Given the description of an element on the screen output the (x, y) to click on. 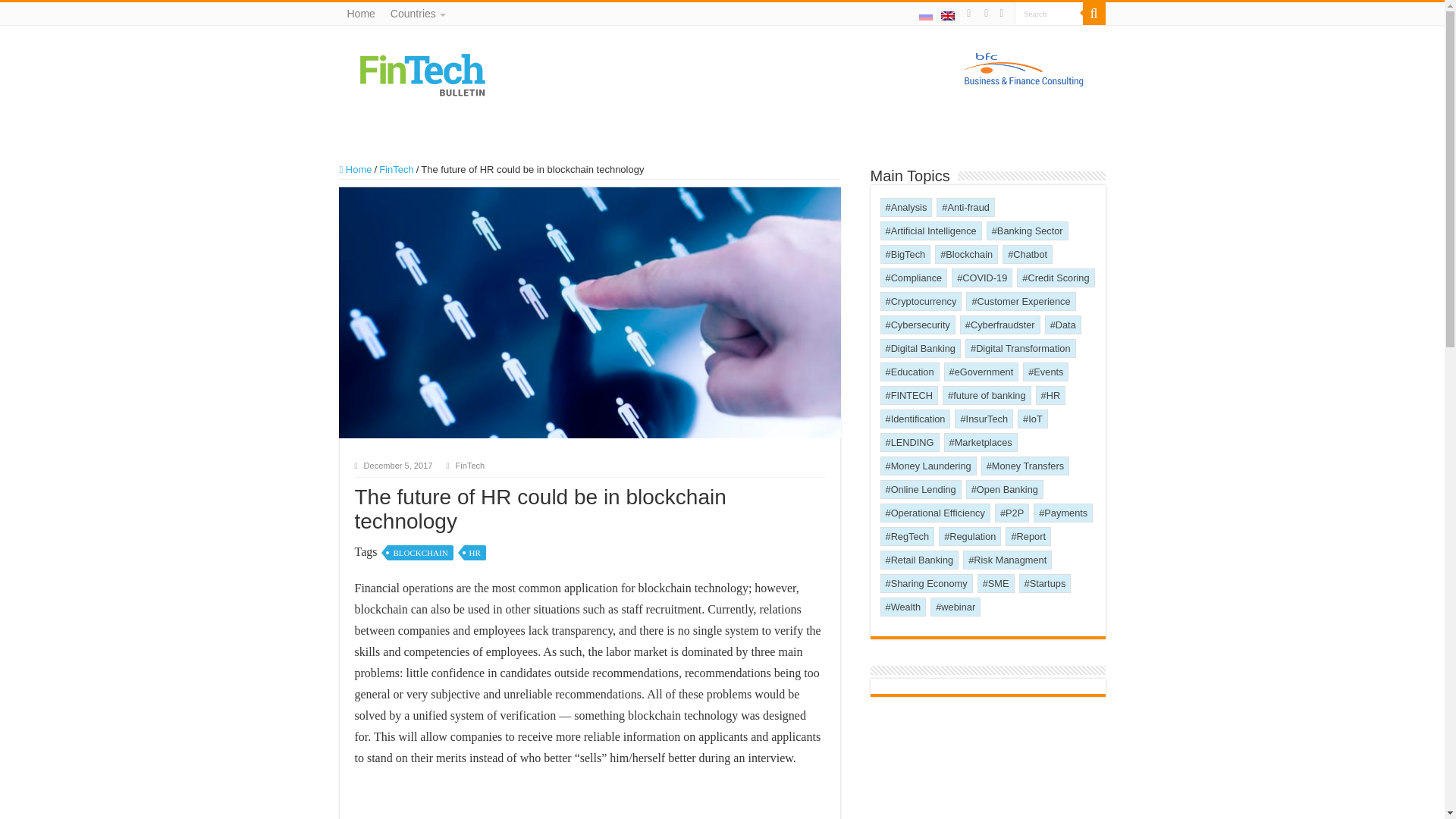
BigTech (904, 253)
Compliance (913, 277)
Anti-fraud (965, 207)
Search (1094, 13)
Home (355, 169)
Search (1048, 13)
Artificial Intelligence (930, 230)
BFC Bulletins (422, 73)
Chatbot (1027, 253)
Blockchain (965, 253)
